Given the description of an element on the screen output the (x, y) to click on. 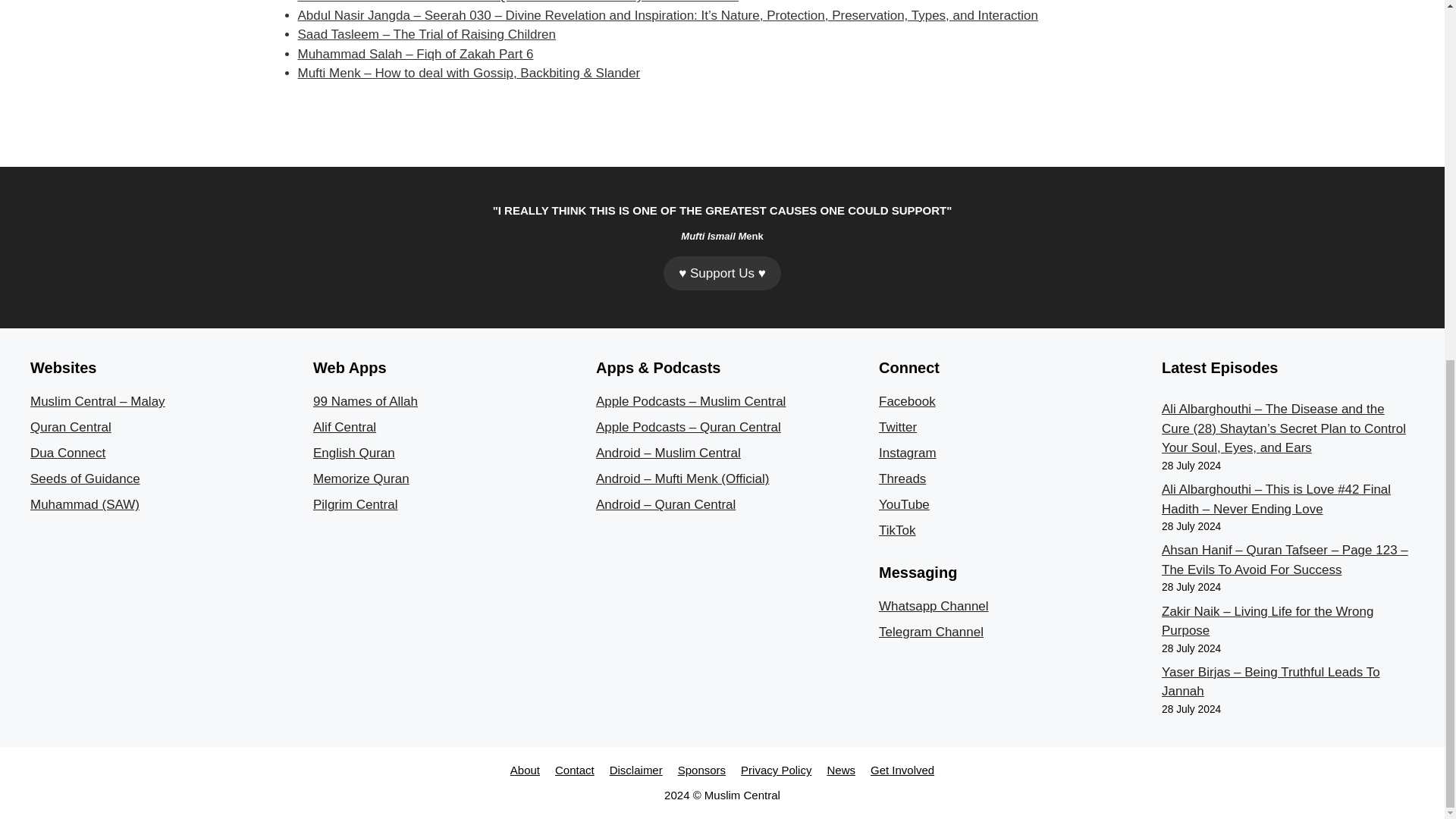
Alif Central (344, 427)
Pilgrim Central (355, 504)
Memorize Quran (361, 478)
Dua Connect (67, 452)
99 Names of Allah (365, 400)
Seeds of Guidance (84, 478)
English Quran (353, 452)
Quran Central (71, 427)
